Given the description of an element on the screen output the (x, y) to click on. 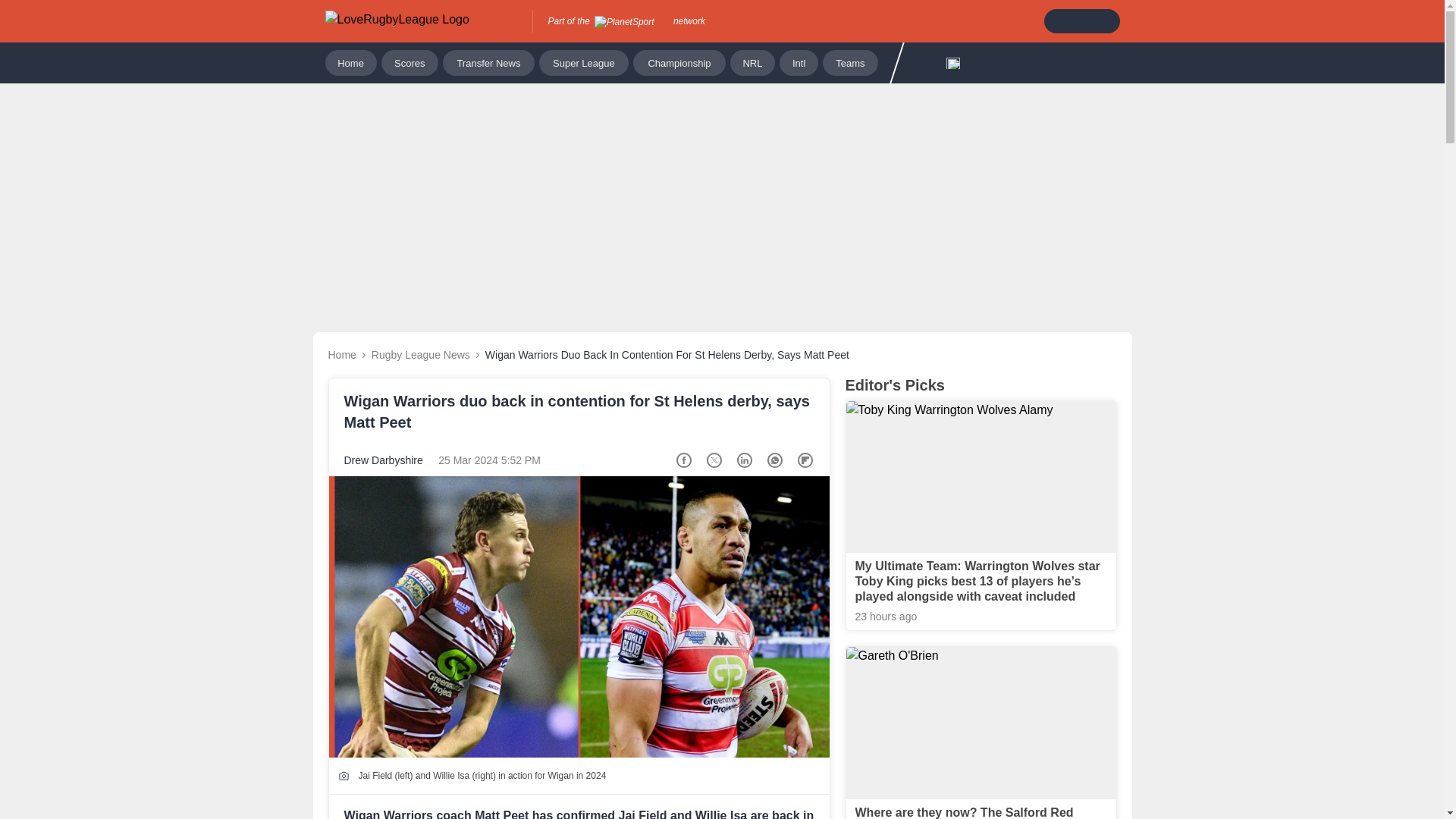
NRL (752, 62)
Home (349, 62)
Drew Darbyshire (383, 460)
Championship (679, 62)
Super League (583, 62)
Intl (798, 62)
Transfer News (488, 62)
Scores (409, 62)
Rugby League News (420, 354)
Teams (849, 62)
